Given the description of an element on the screen output the (x, y) to click on. 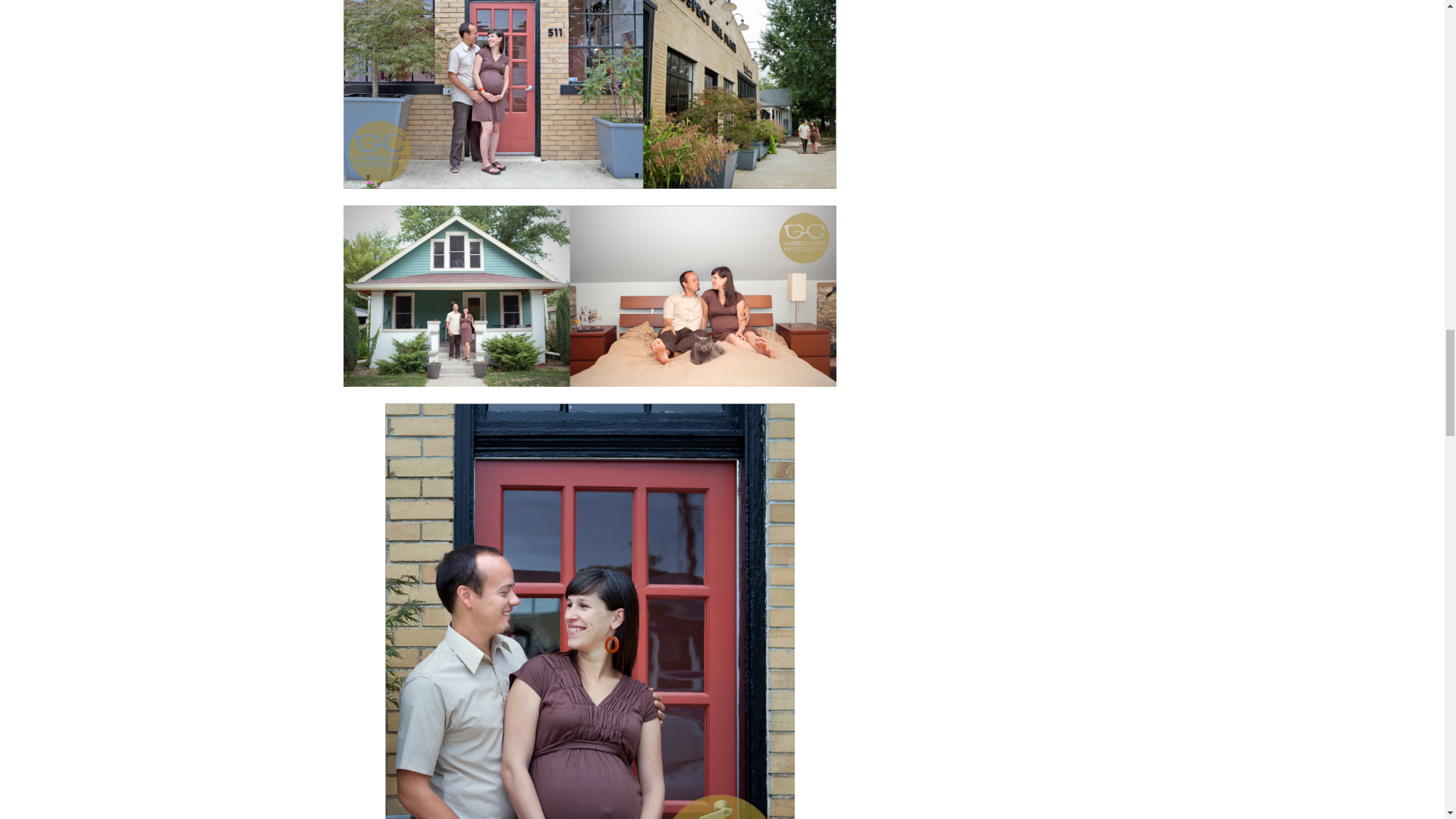
Screen Shot 2012-09-17 at 6.33.49 PM (588, 295)
Screen Shot 2012-09-17 at 6.32.10 PM (588, 94)
